Given the description of an element on the screen output the (x, y) to click on. 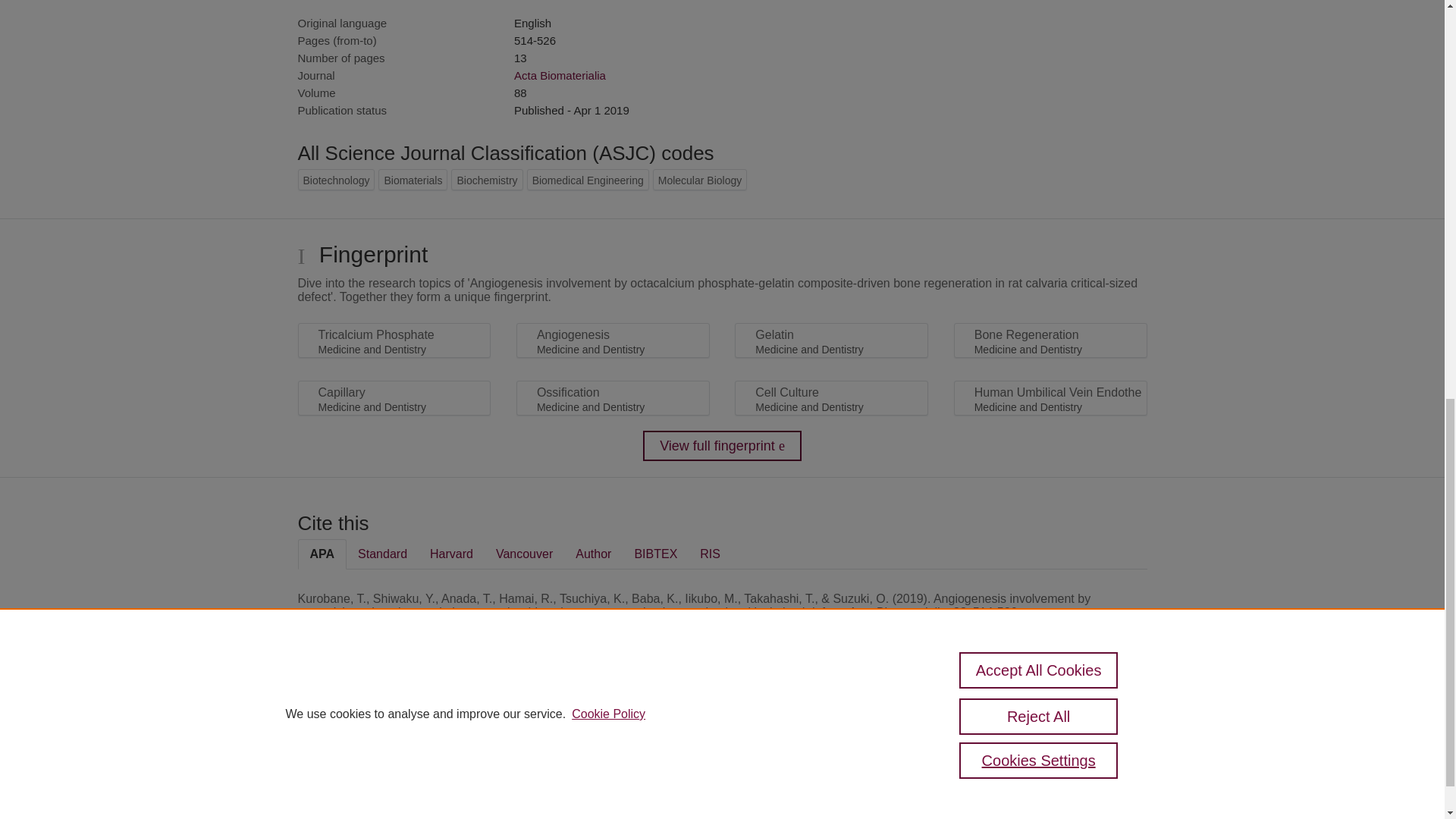
View full fingerprint (722, 445)
Pure (362, 731)
Acta Biomaterialia (559, 74)
Scopus (394, 731)
